Given the description of an element on the screen output the (x, y) to click on. 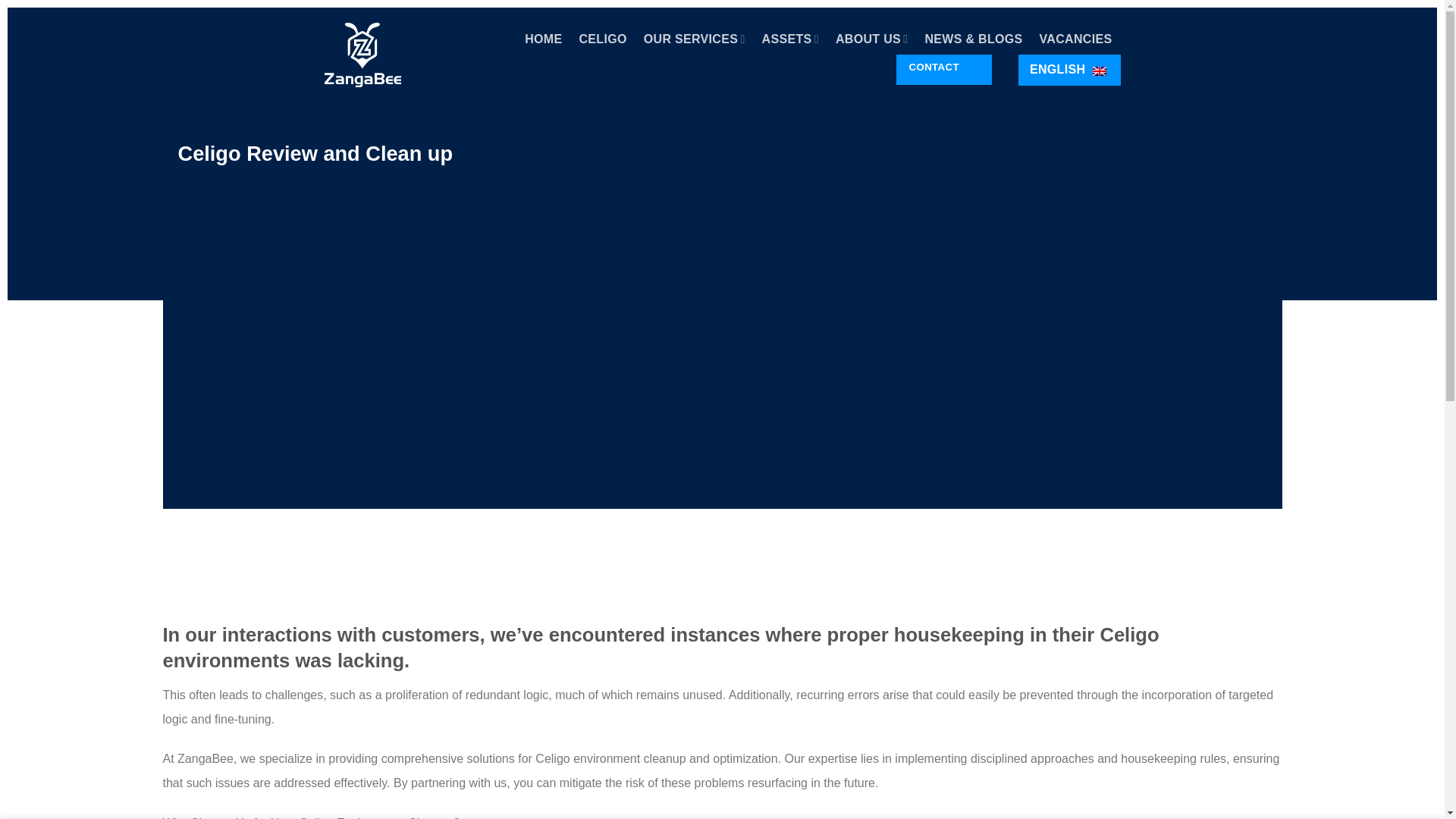
CELIGO (603, 39)
OUR SERVICES (694, 39)
ABOUT US (871, 39)
HOME (543, 39)
ASSETS (789, 39)
